Given the description of an element on the screen output the (x, y) to click on. 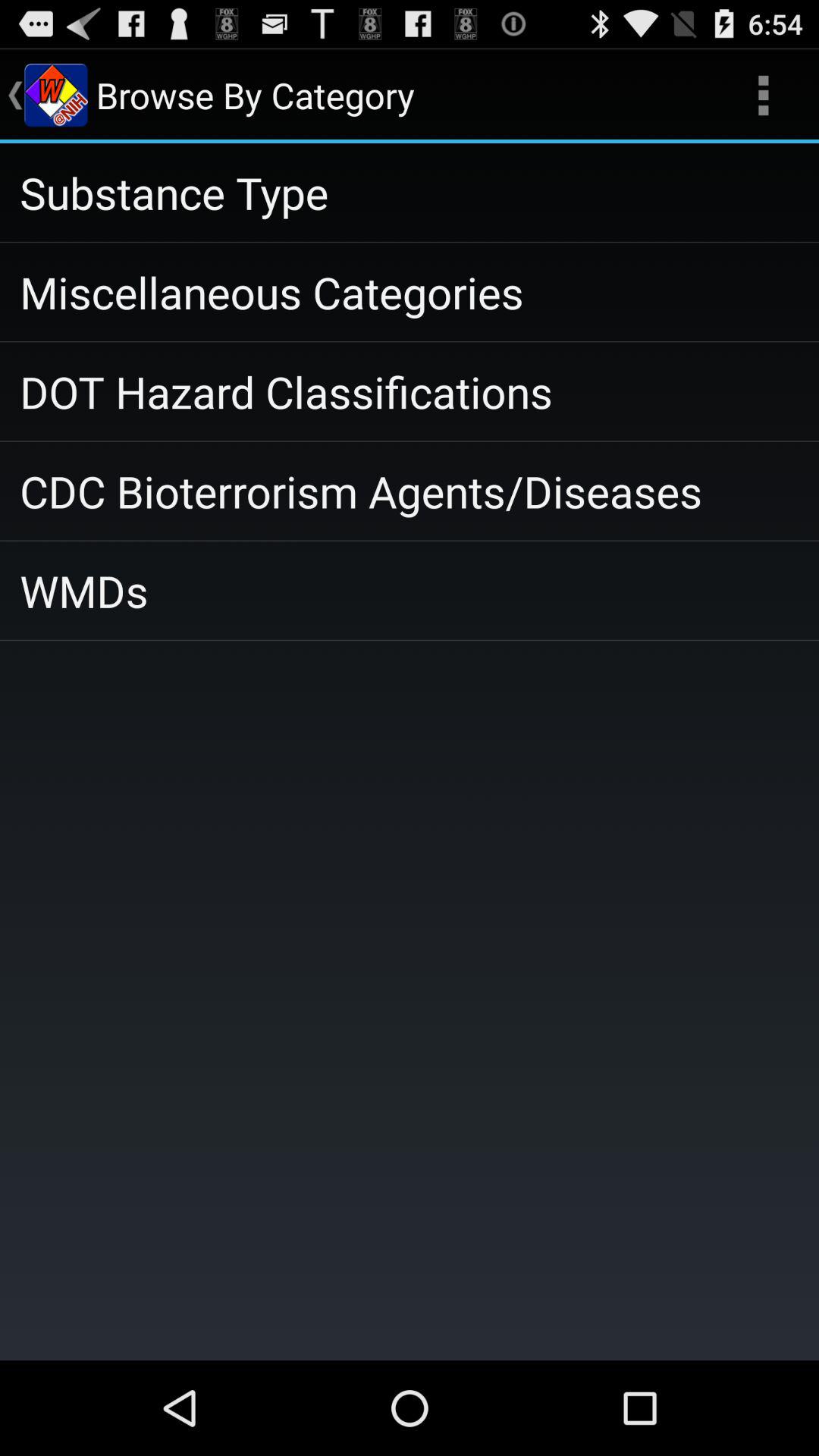
click the wmds icon (409, 590)
